Given the description of an element on the screen output the (x, y) to click on. 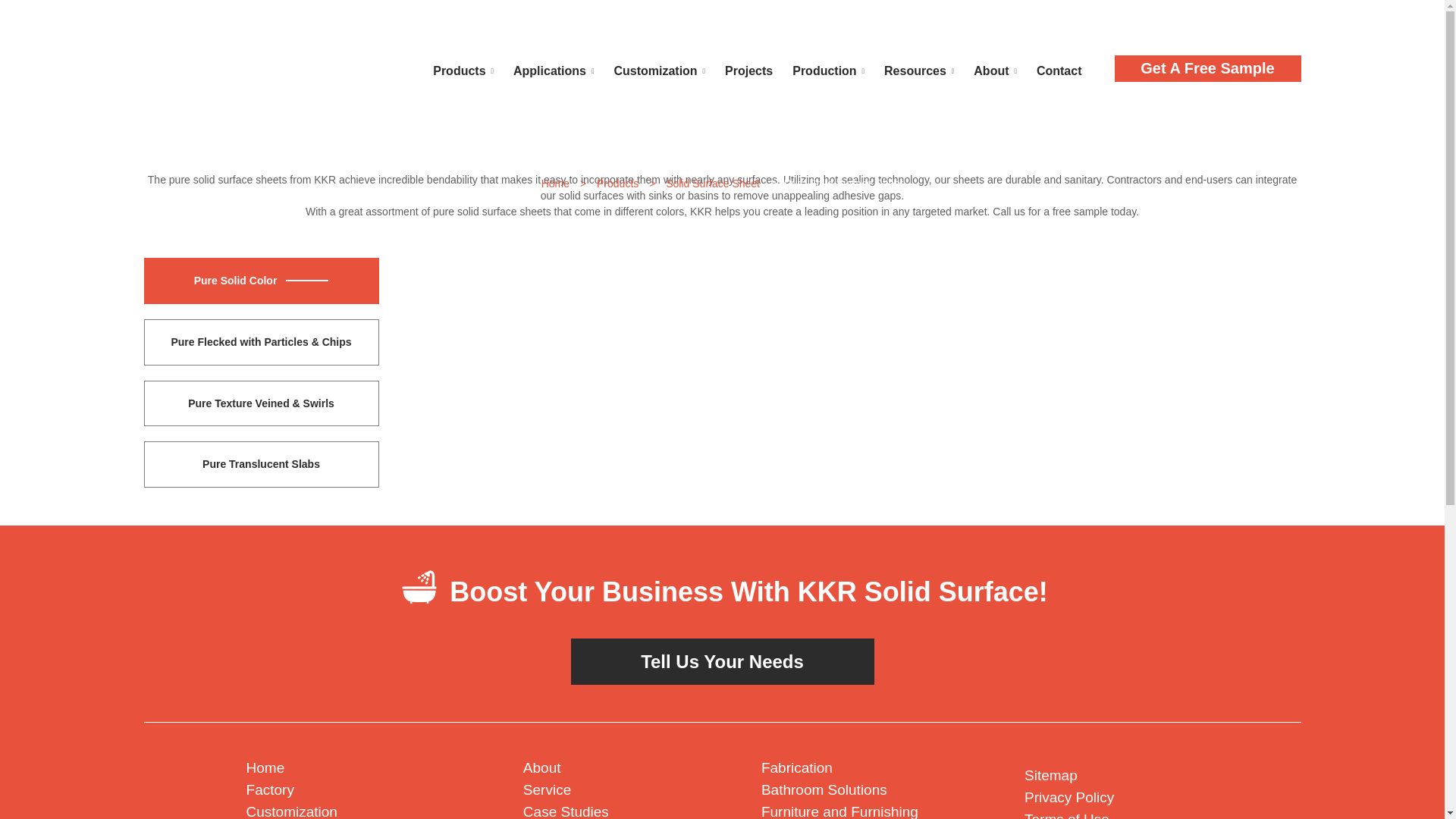
Contact (1059, 69)
Applications (553, 69)
Customization (659, 69)
Production (829, 69)
Projects (748, 69)
About (994, 69)
Products (463, 69)
Resources (919, 69)
